Given the description of an element on the screen output the (x, y) to click on. 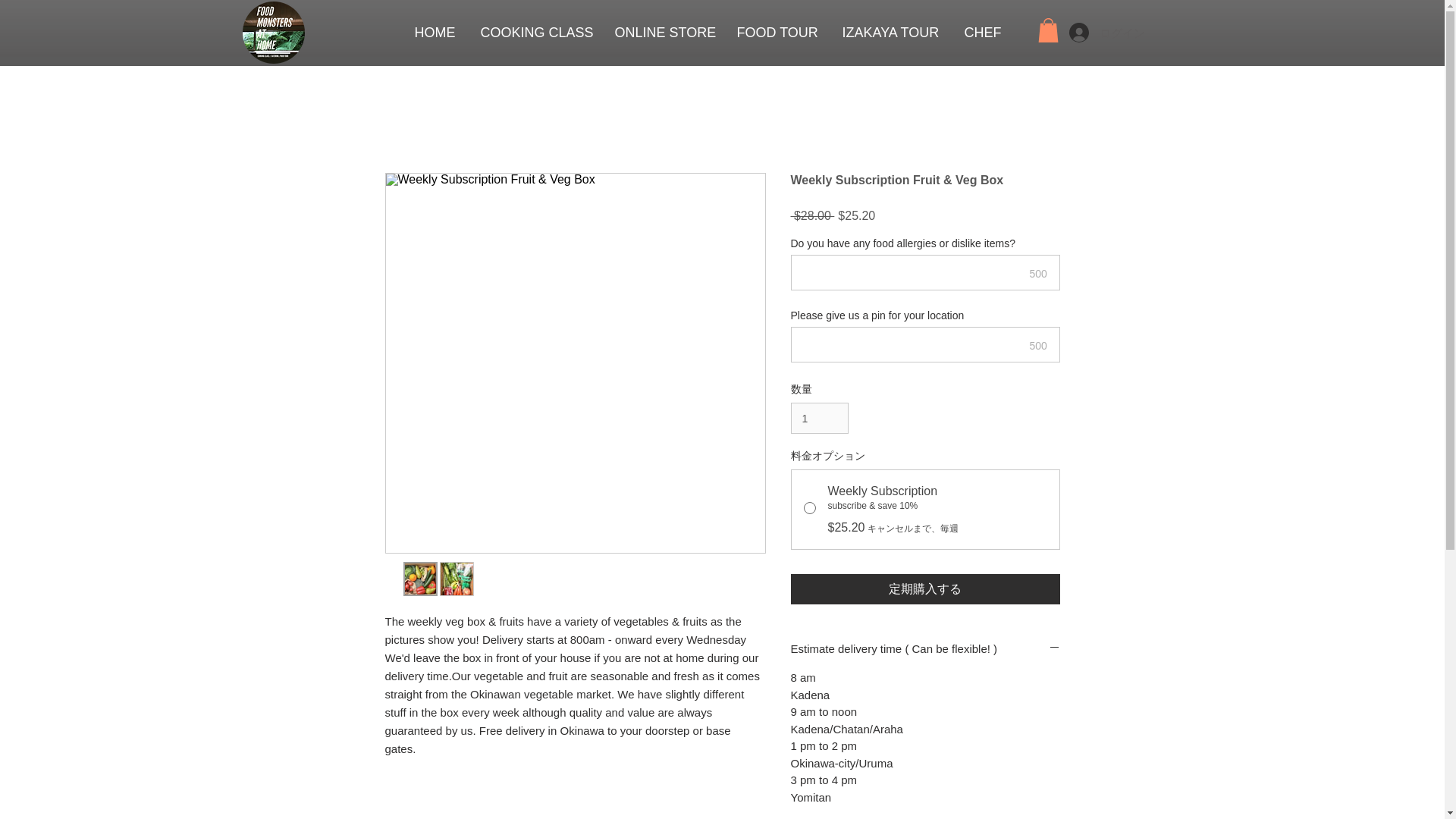
CHEF (981, 32)
1 (818, 418)
COOKING CLASS (535, 32)
ONLINE STORE (662, 32)
FOOD TOUR (777, 32)
HOME (434, 32)
IZAKAYA TOUR (890, 32)
